Given the description of an element on the screen output the (x, y) to click on. 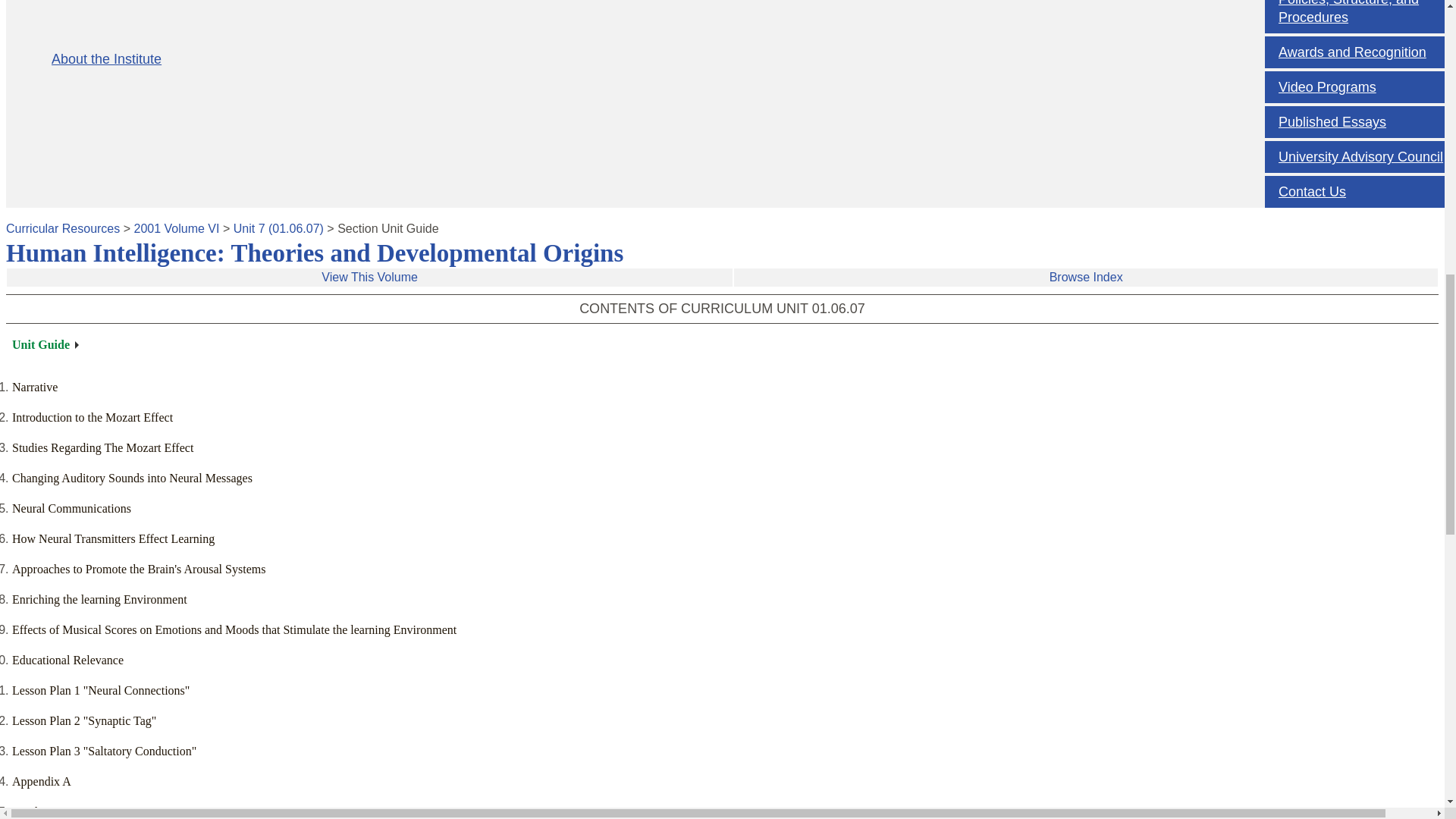
Browse Index (1085, 277)
Curricular Resources (62, 228)
About the Institute (651, 59)
Studies Regarding The Mozart Effect (102, 447)
Narrative (34, 386)
2001 Volume VI (176, 228)
Unit Guide (44, 344)
Introduction to the Mozart Effect (92, 417)
View This Volume (369, 277)
